Given the description of an element on the screen output the (x, y) to click on. 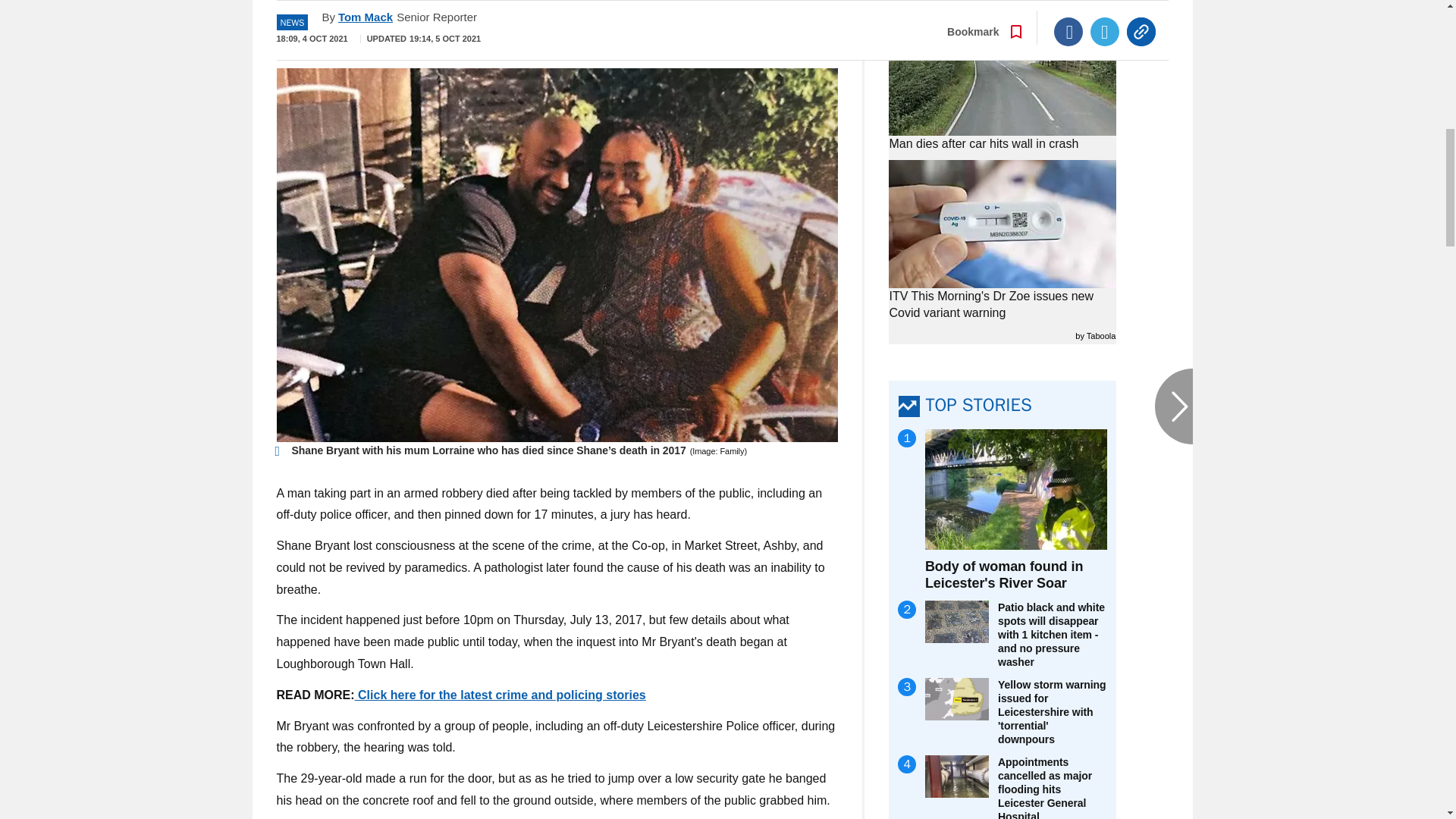
Go (730, 34)
Man dies after car hits wall in crash (1002, 72)
